Given the description of an element on the screen output the (x, y) to click on. 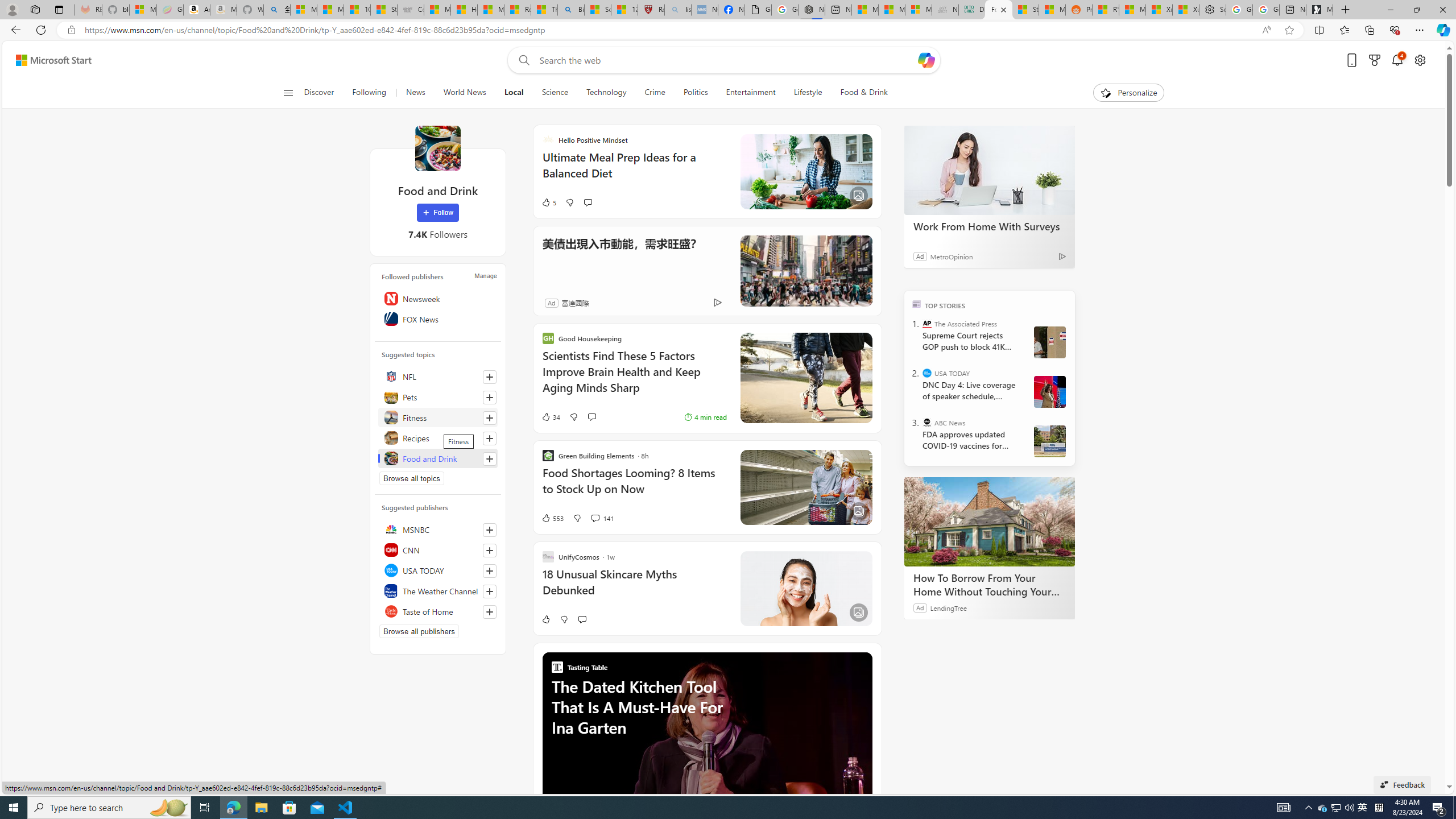
Skip to footer (46, 59)
Work From Home With Surveys (988, 226)
Browse all publishers (419, 631)
Fitness (437, 417)
Work From Home With Surveys (989, 169)
Recipes (437, 437)
Class: button-glyph (287, 92)
Stocks - MSN (1025, 9)
